Given the description of an element on the screen output the (x, y) to click on. 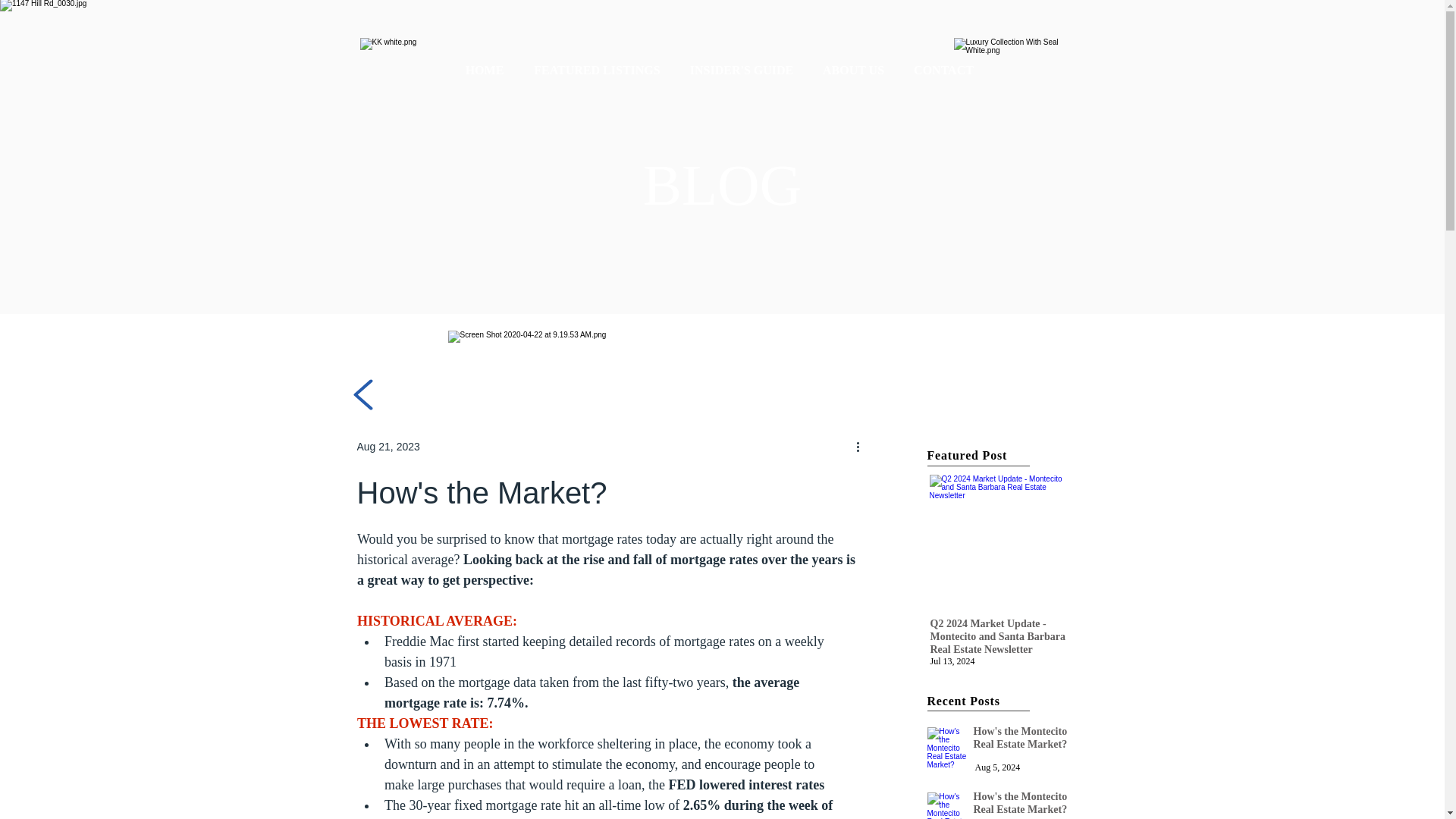
How's the Montecito Real Estate Market?  (948, 805)
ABOUT US (853, 69)
CONTACT (943, 69)
HOME (484, 69)
Aug 21, 2023 (387, 445)
INSIDER'S GUIDE (741, 69)
How's the Montecito Real Estate Market?  (948, 750)
